Given the description of an element on the screen output the (x, y) to click on. 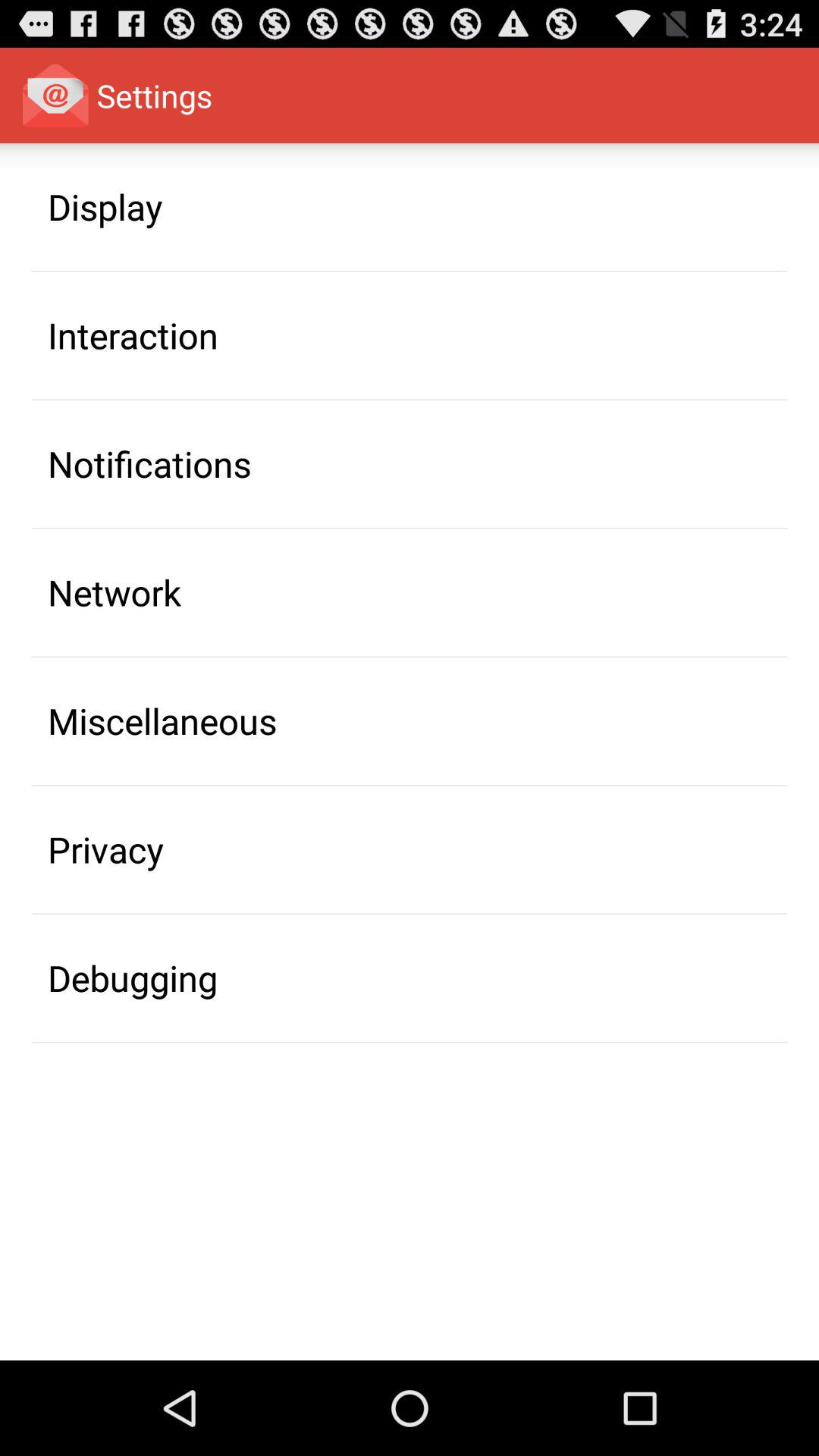
choose icon below the privacy item (132, 977)
